Given the description of an element on the screen output the (x, y) to click on. 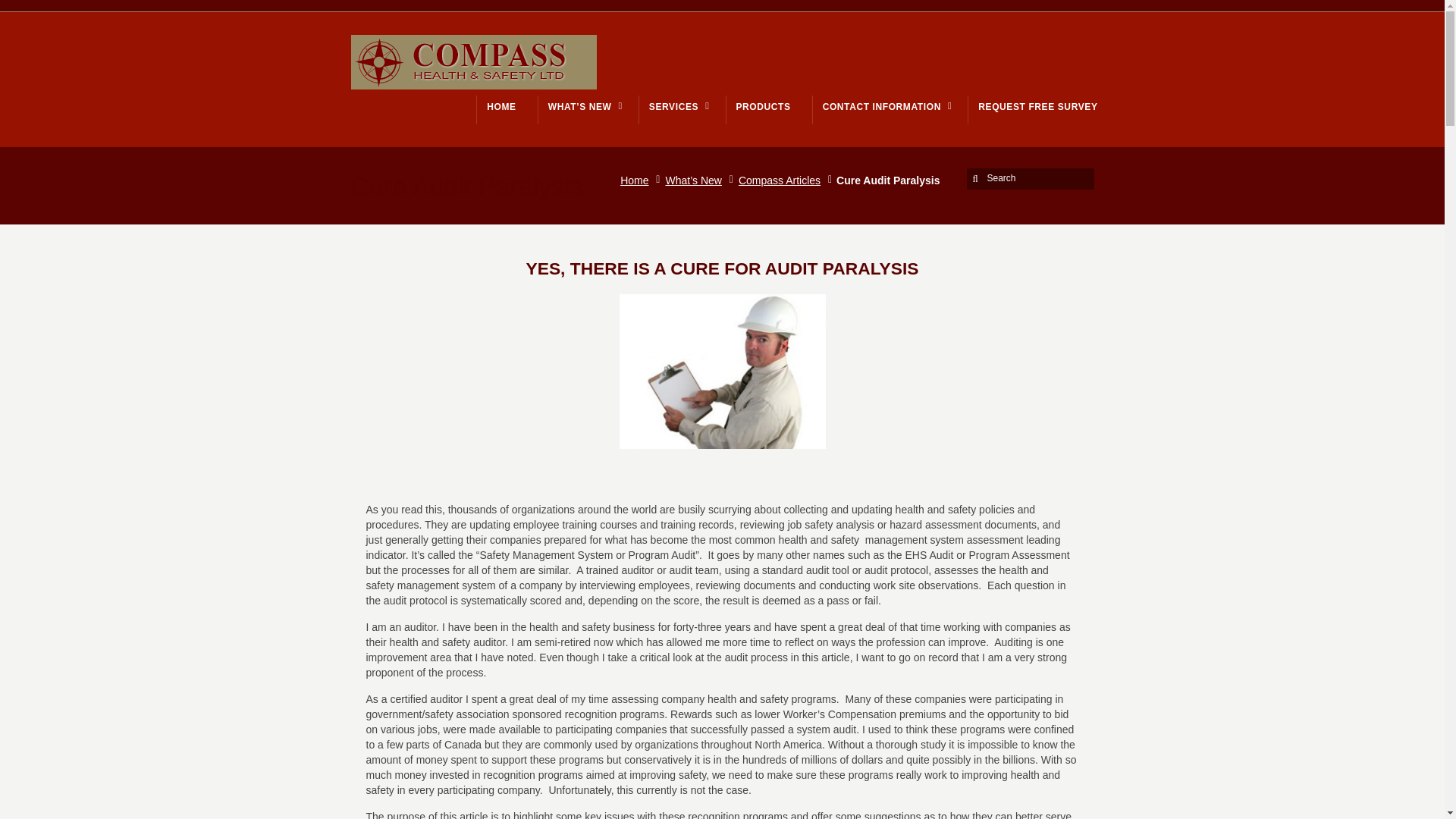
Search (1032, 177)
REQUEST FREE SURVEY (1037, 106)
PRODUCTS (762, 106)
Home (636, 180)
SERVICES (676, 106)
CONTACT INFORMATION (884, 106)
Compass Articles (782, 180)
HOME (500, 106)
